Given the description of an element on the screen output the (x, y) to click on. 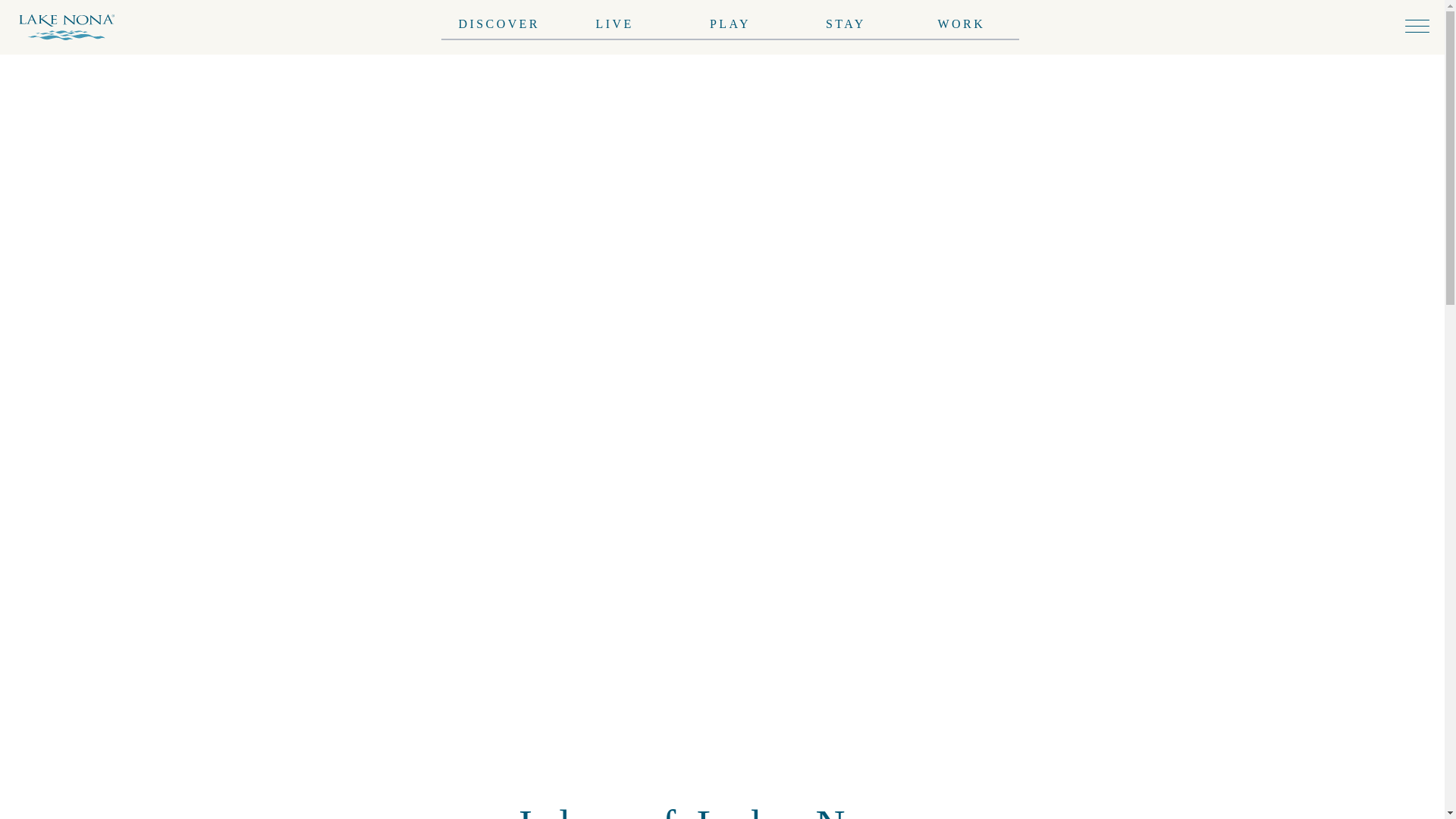
WORK (961, 21)
STAY (845, 20)
Lake Nona (73, 26)
DISCOVER (498, 11)
PLAY (730, 19)
LIVE (614, 16)
